Given the description of an element on the screen output the (x, y) to click on. 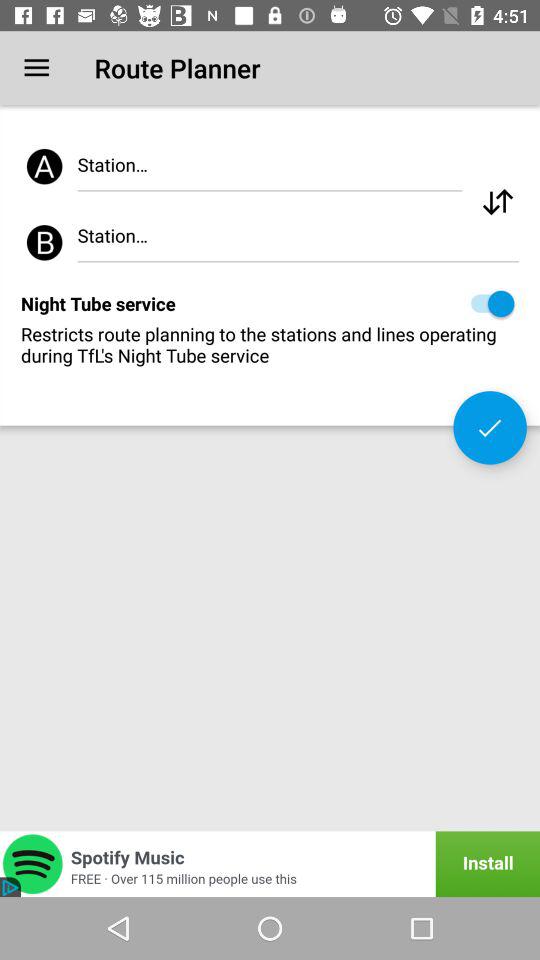
open the icon on the right (489, 427)
